Given the description of an element on the screen output the (x, y) to click on. 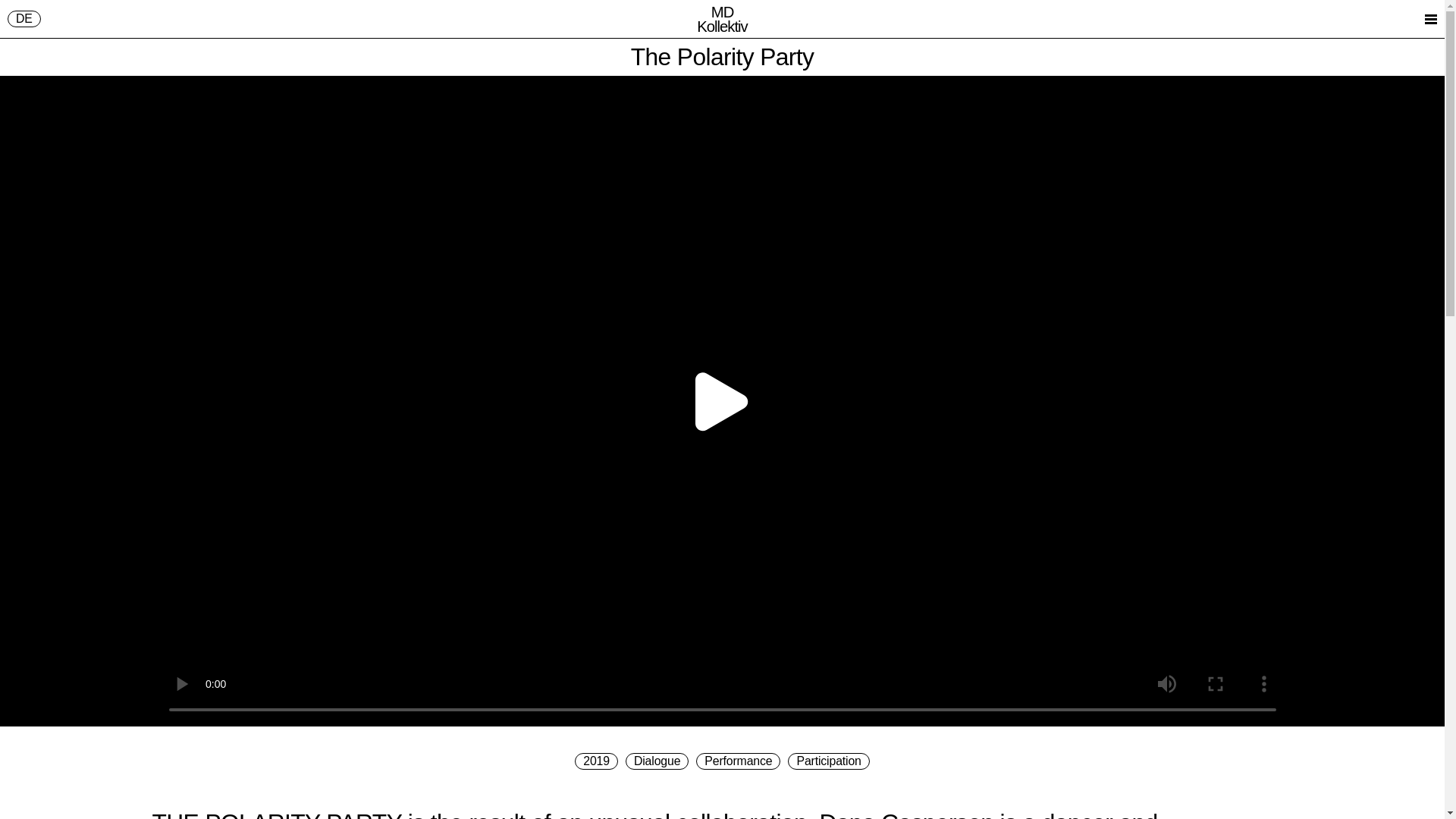
DE (23, 18)
